Given the description of an element on the screen output the (x, y) to click on. 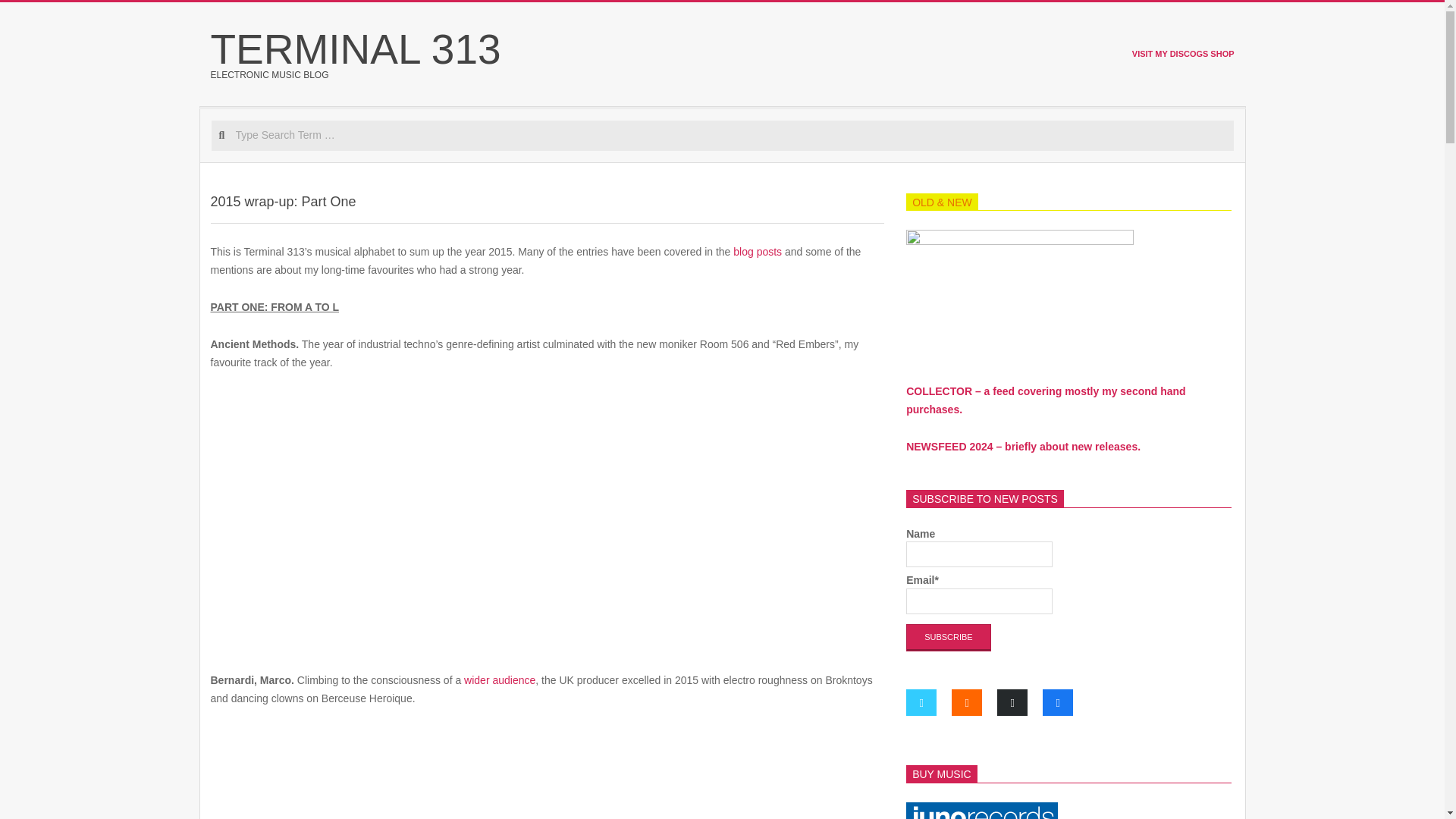
blog posts (757, 251)
Subscribe (947, 637)
wider audience (499, 680)
TERMINAL 313 (355, 48)
VISIT MY DISCOGS SHOP (1183, 52)
Subscribe (947, 637)
Juno Record Logo (981, 810)
